Given the description of an element on the screen output the (x, y) to click on. 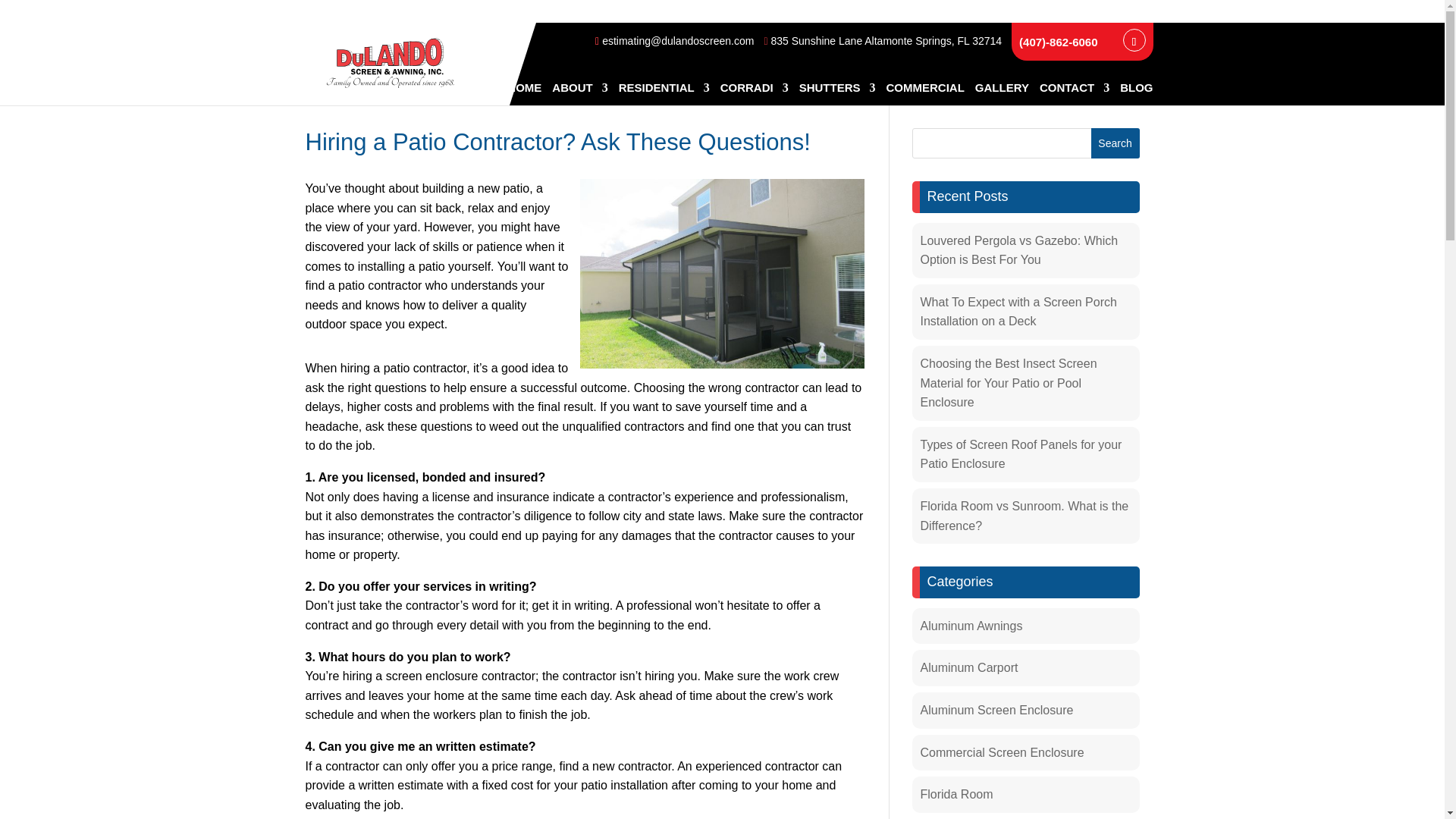
SHUTTERS (837, 93)
835 Sunshine Lane Altamonte Springs, FL 32714 (882, 40)
Search (1115, 142)
ABOUT (579, 93)
COMMERCIAL (924, 93)
HOME (523, 93)
GALLERY (1002, 93)
RESIDENTIAL (664, 93)
CORRADI (754, 93)
CONTACT (1074, 93)
